Given the description of an element on the screen output the (x, y) to click on. 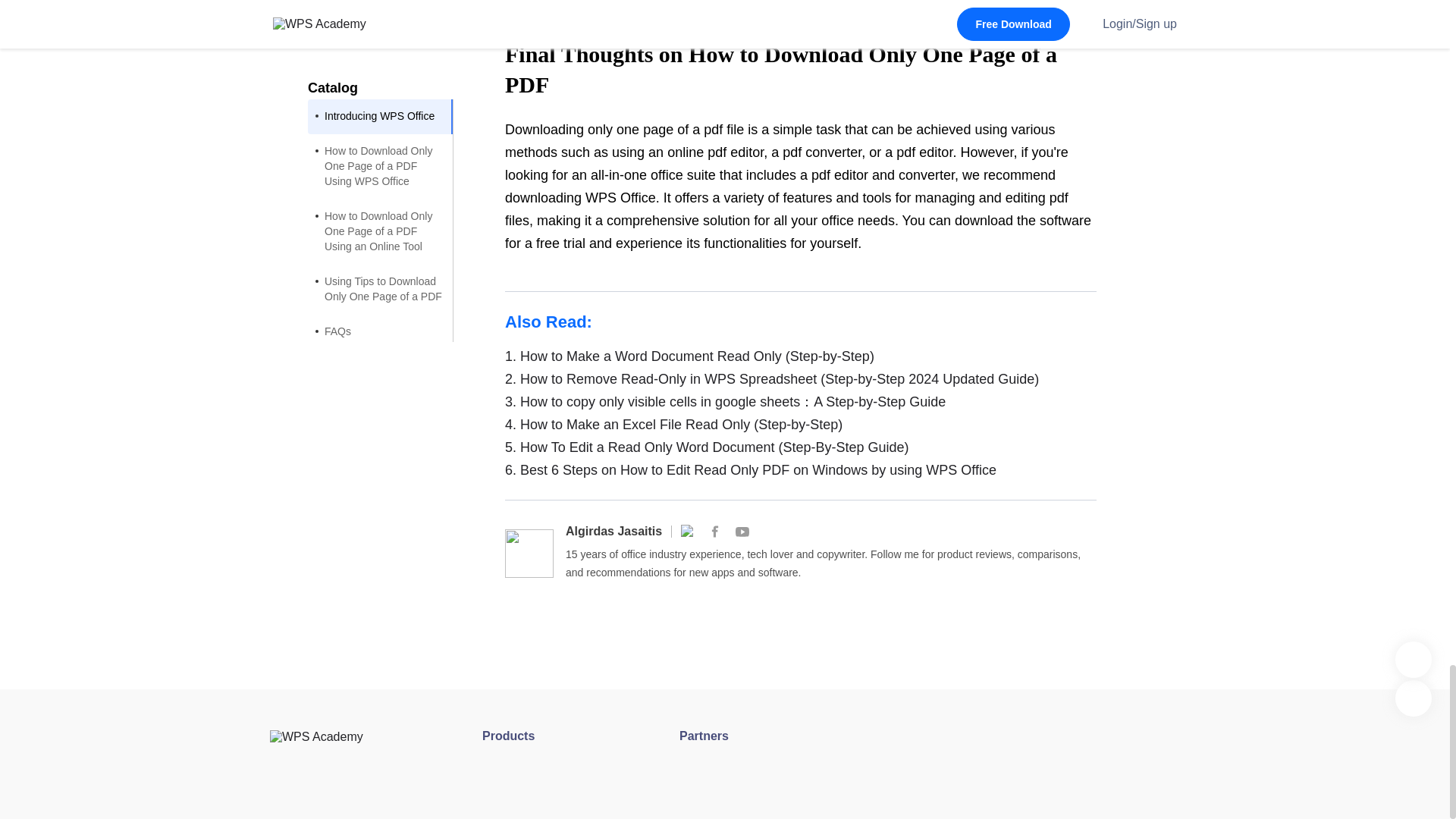
Algirdas Jasaitis (614, 531)
WPS Office Official YouTube (742, 531)
WPS Office Official Twitter (687, 531)
WPS Office Official Facebook (714, 531)
